Given the description of an element on the screen output the (x, y) to click on. 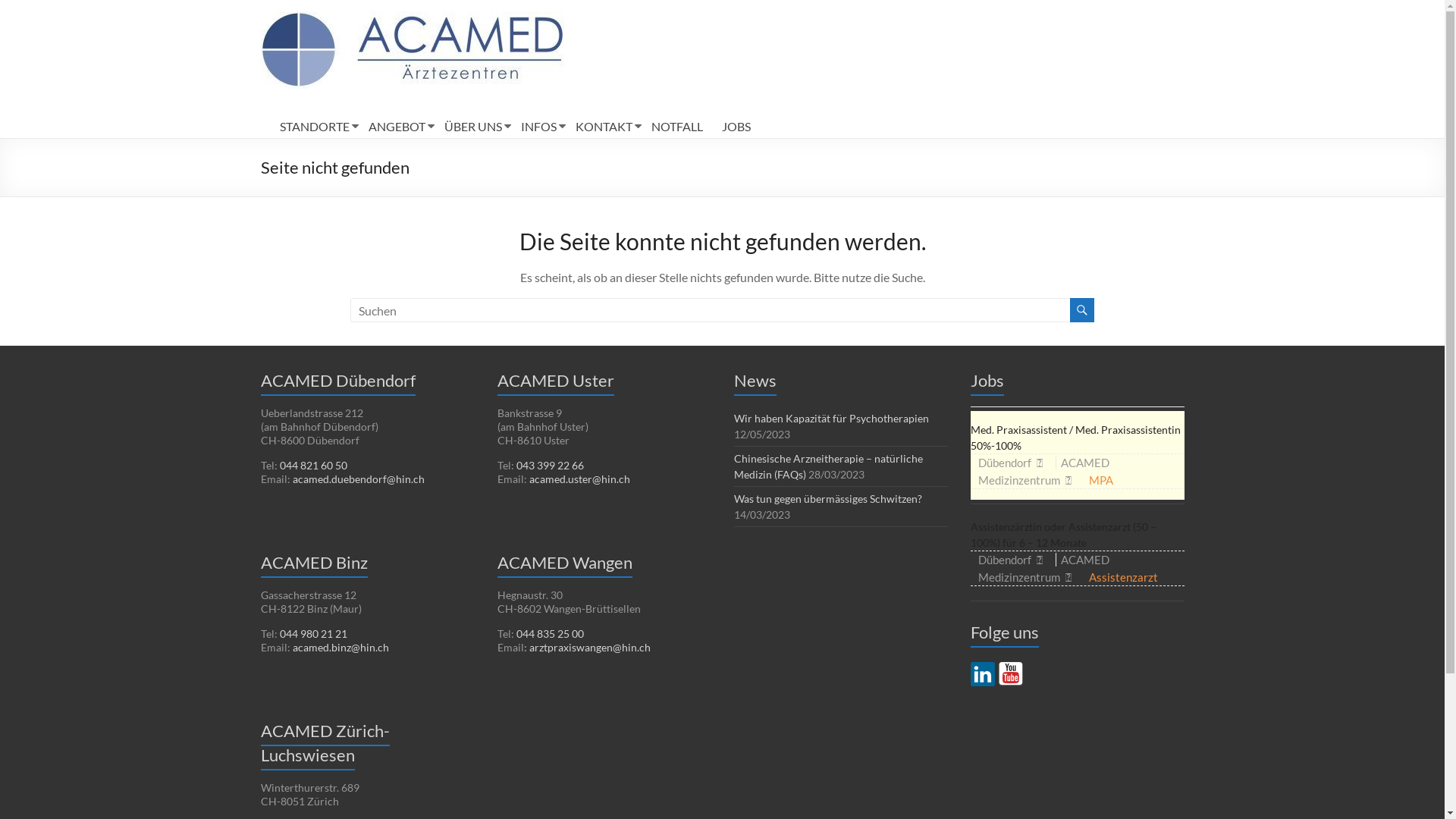
Find us on YouTube Element type: hover (1009, 674)
acamed.binz@hin.ch Element type: text (340, 646)
044 821 60 50 Element type: text (312, 464)
KONTAKT Element type: text (602, 126)
ANGEBOT Element type: text (396, 126)
acamed.uster@hin.ch Element type: text (579, 478)
STANDORTE Element type: text (313, 126)
043 399 22 66 Element type: text (549, 464)
044 835 25 00 Element type: text (549, 633)
acamed.duebendorf@hin.ch Element type: text (358, 478)
INFOS Element type: text (537, 126)
044 980 21 21 Element type: text (312, 633)
JOBS Element type: text (735, 126)
Find us on Linkedin Element type: hover (982, 674)
NOTFALL Element type: text (676, 126)
arztpraxiswangen@hin.ch Element type: text (589, 646)
